Given the description of an element on the screen output the (x, y) to click on. 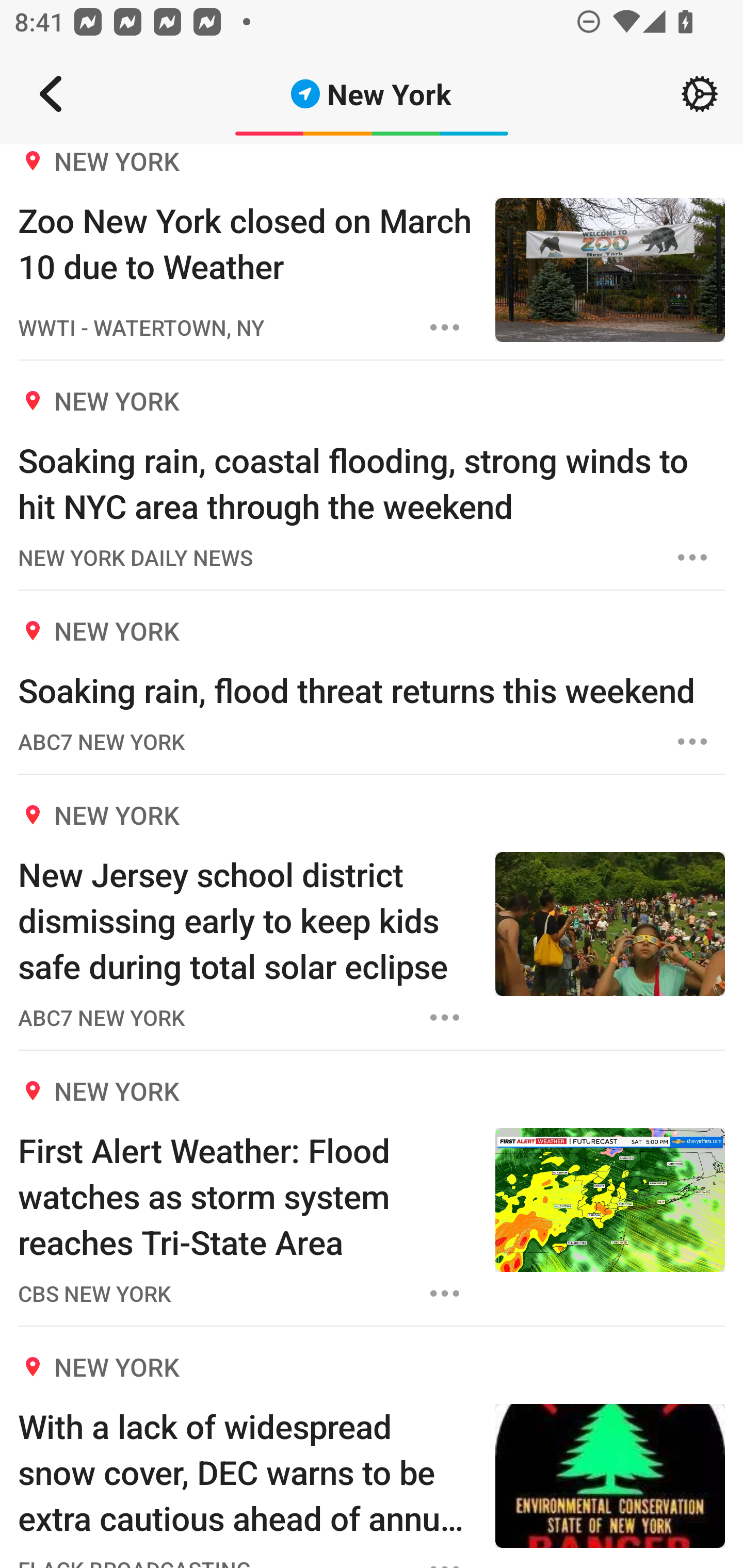
Navigate up (50, 93)
Setting (699, 93)
Options (444, 327)
Options (692, 557)
Options (692, 741)
Options (444, 1017)
Options (444, 1293)
